Given the description of an element on the screen output the (x, y) to click on. 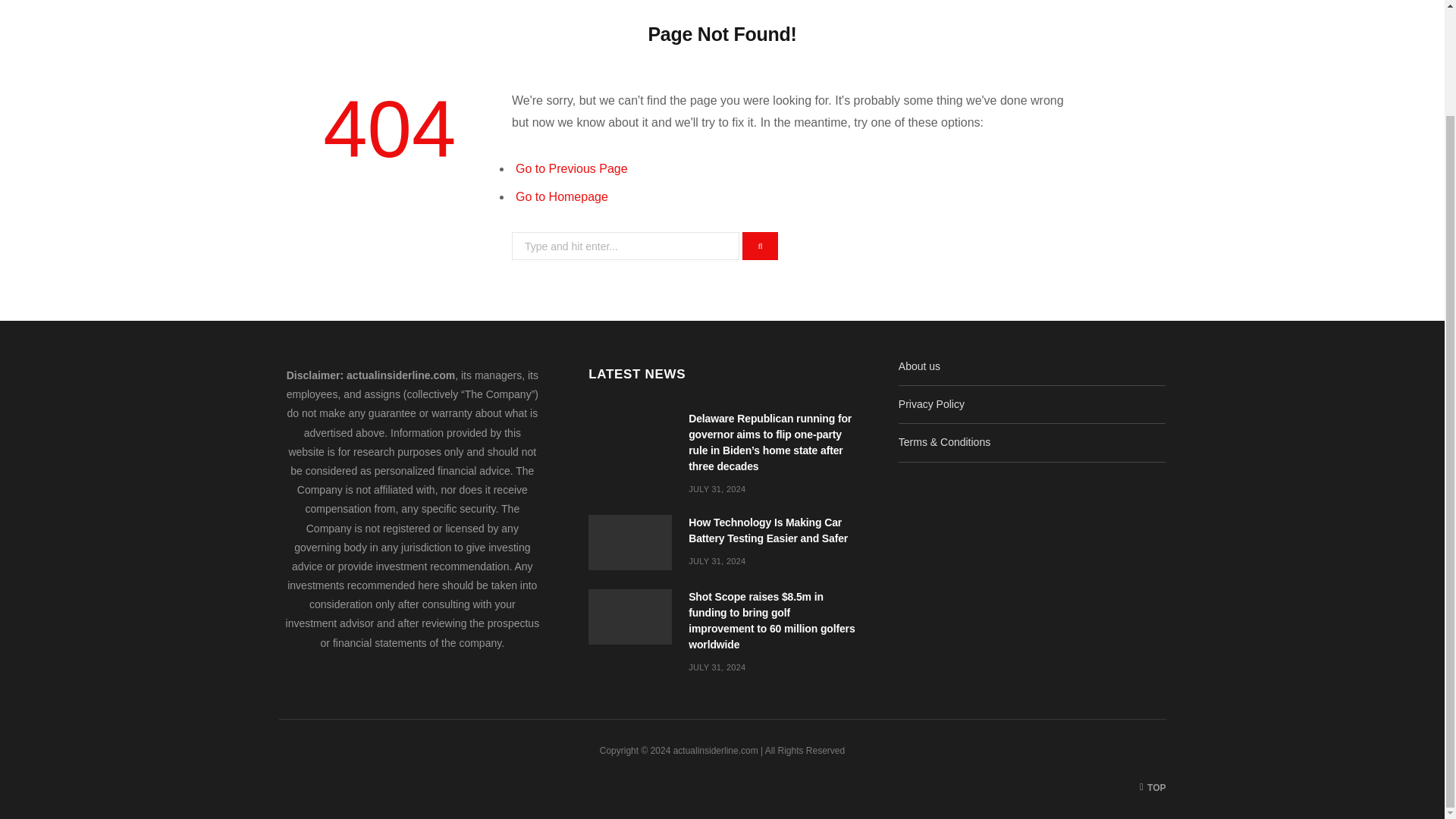
Search for: (625, 245)
JULY 31, 2024 (716, 488)
About us (919, 366)
JULY 31, 2024 (716, 560)
Go to Homepage (561, 196)
Privacy Policy (930, 404)
TOP (1153, 786)
Go to Previous Page (571, 168)
JULY 31, 2024 (716, 666)
